Given the description of an element on the screen output the (x, y) to click on. 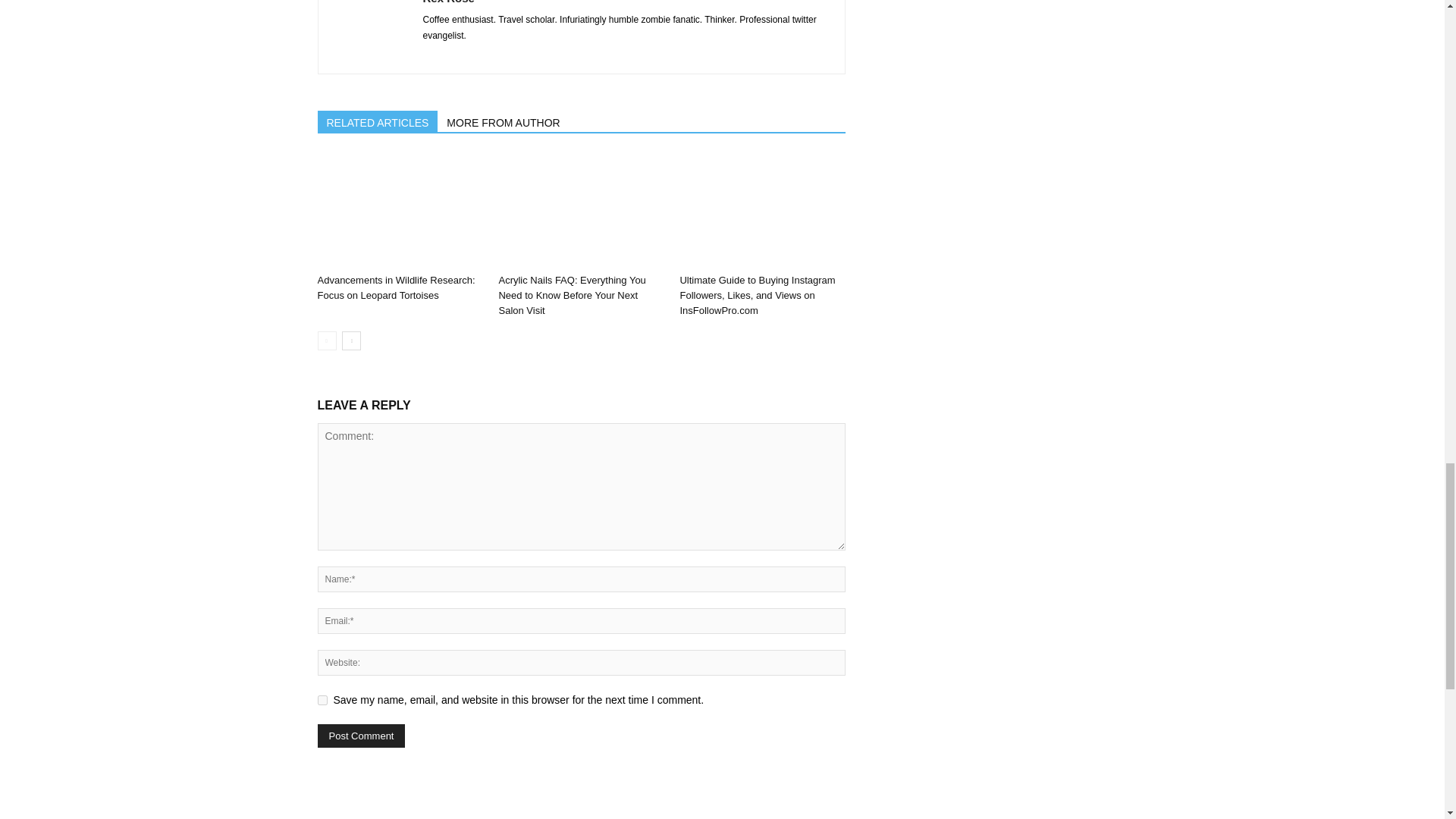
yes (321, 700)
Post Comment (360, 735)
